Given the description of an element on the screen output the (x, y) to click on. 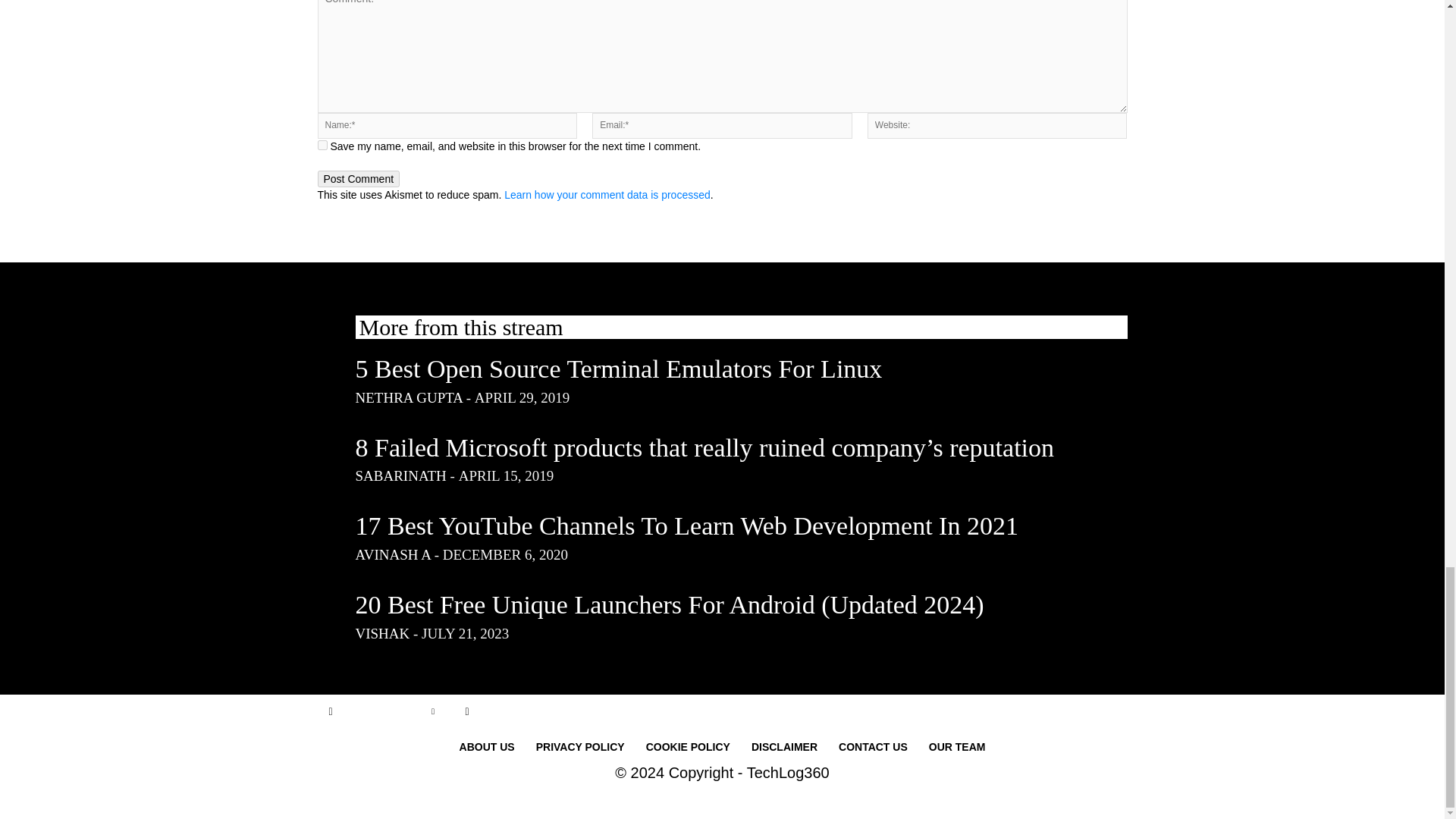
yes (321, 144)
Post Comment (357, 178)
